Given the description of an element on the screen output the (x, y) to click on. 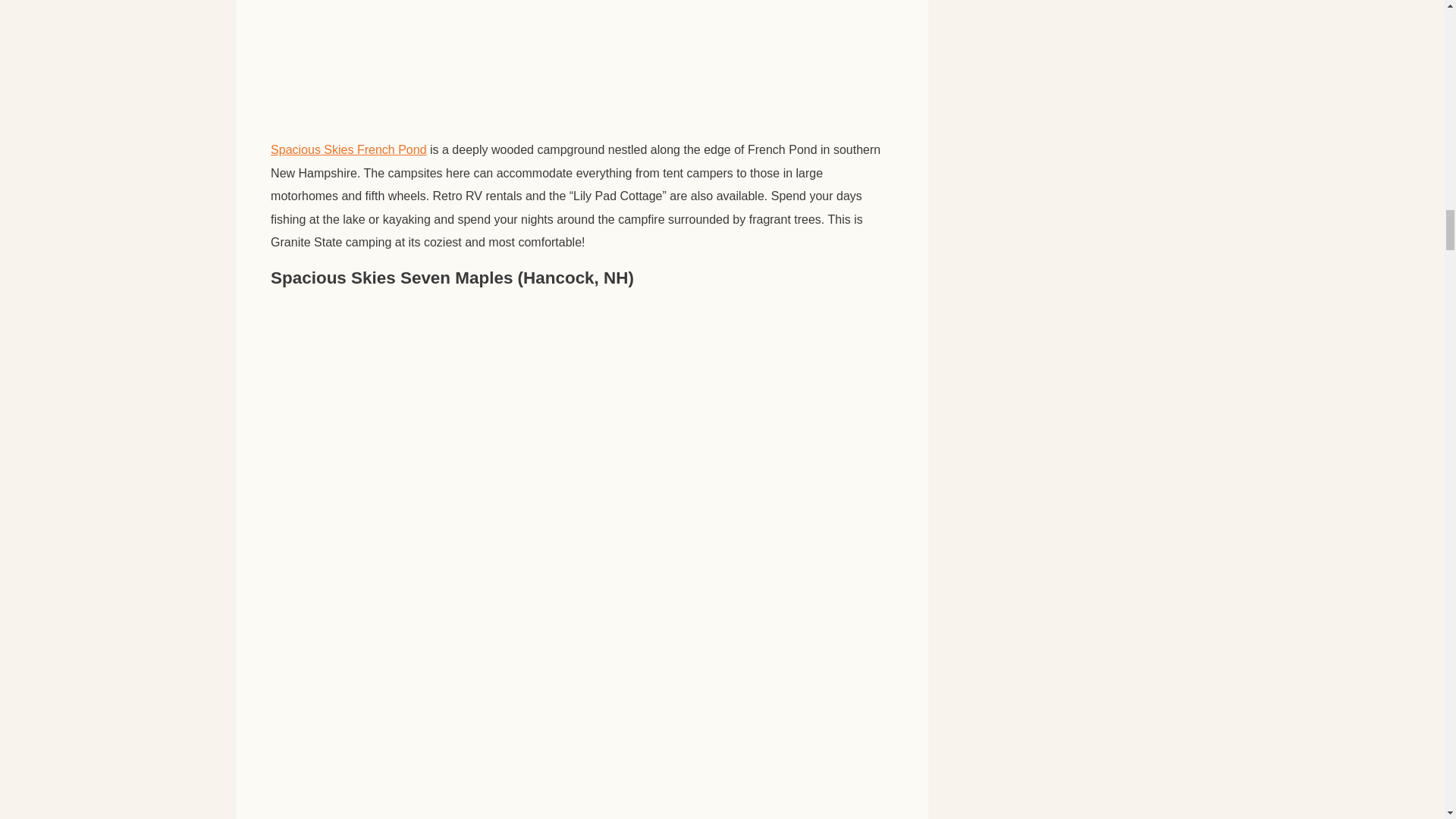
Spacious Skies French Pond (348, 149)
